Given the description of an element on the screen output the (x, y) to click on. 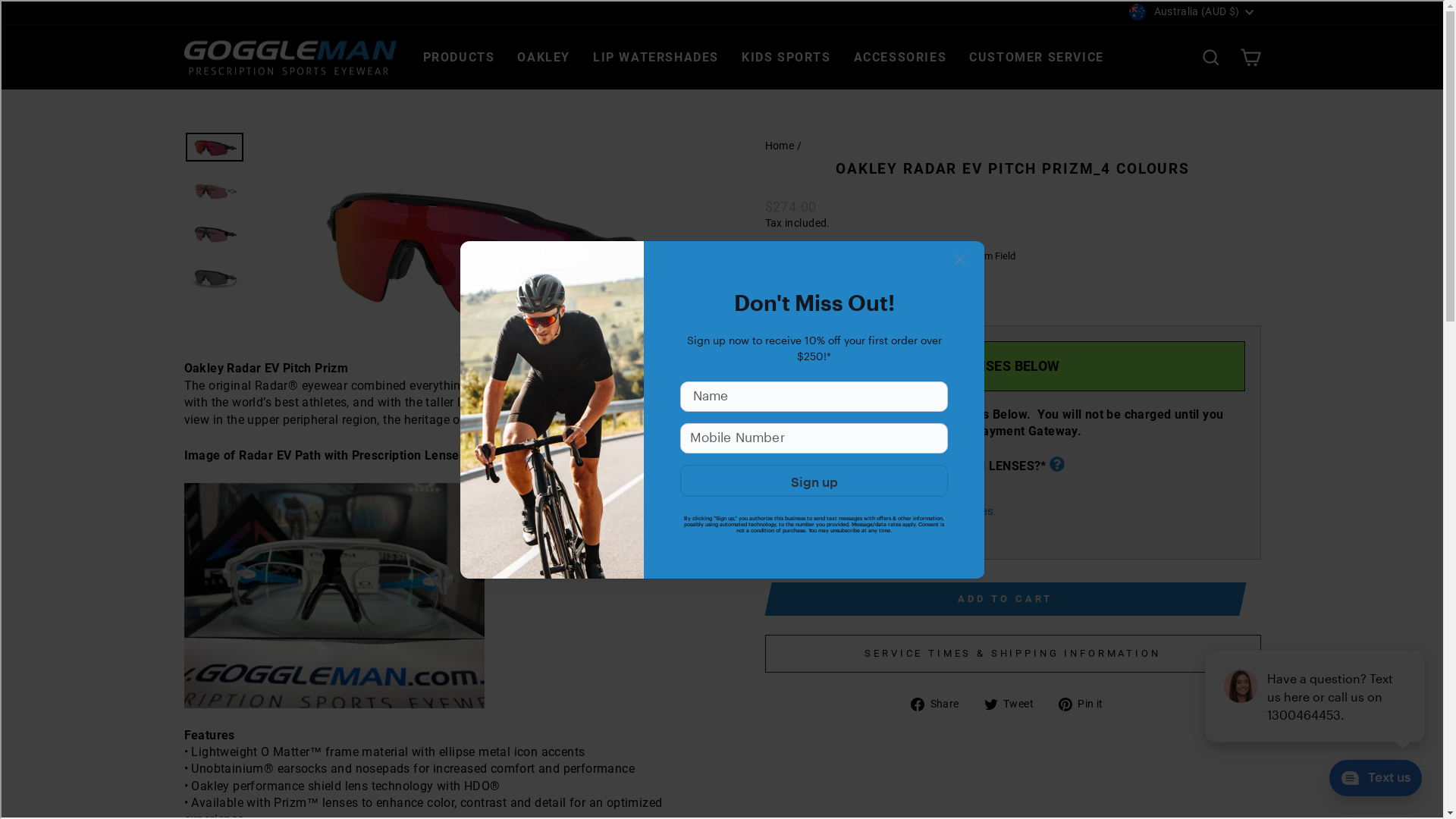
ADD TO CART Element type: text (1004, 598)
ACCESSORIES Element type: text (900, 57)
Share
Share on Facebook Element type: text (939, 703)
SERVICE TIMES & SHIPPING INFORMATION Element type: text (1012, 652)
OAKLEY Element type: text (543, 57)
Tweet
Tweet on Twitter Element type: text (1014, 703)
PRODUCTS Element type: text (458, 57)
Home Element type: text (778, 145)
KIDS SPORTS Element type: text (786, 57)
CUSTOMER SERVICE Element type: text (1036, 57)
LIP WATERSHADES Element type: text (655, 57)
CART Element type: text (1249, 56)
SEARCH Element type: text (1210, 56)
podium webchat widget prompt Element type: hover (1315, 696)
Pin it
Pin on Pinterest Element type: text (1086, 703)
Australia (AUD $) Element type: text (1192, 12)
